Given the description of an element on the screen output the (x, y) to click on. 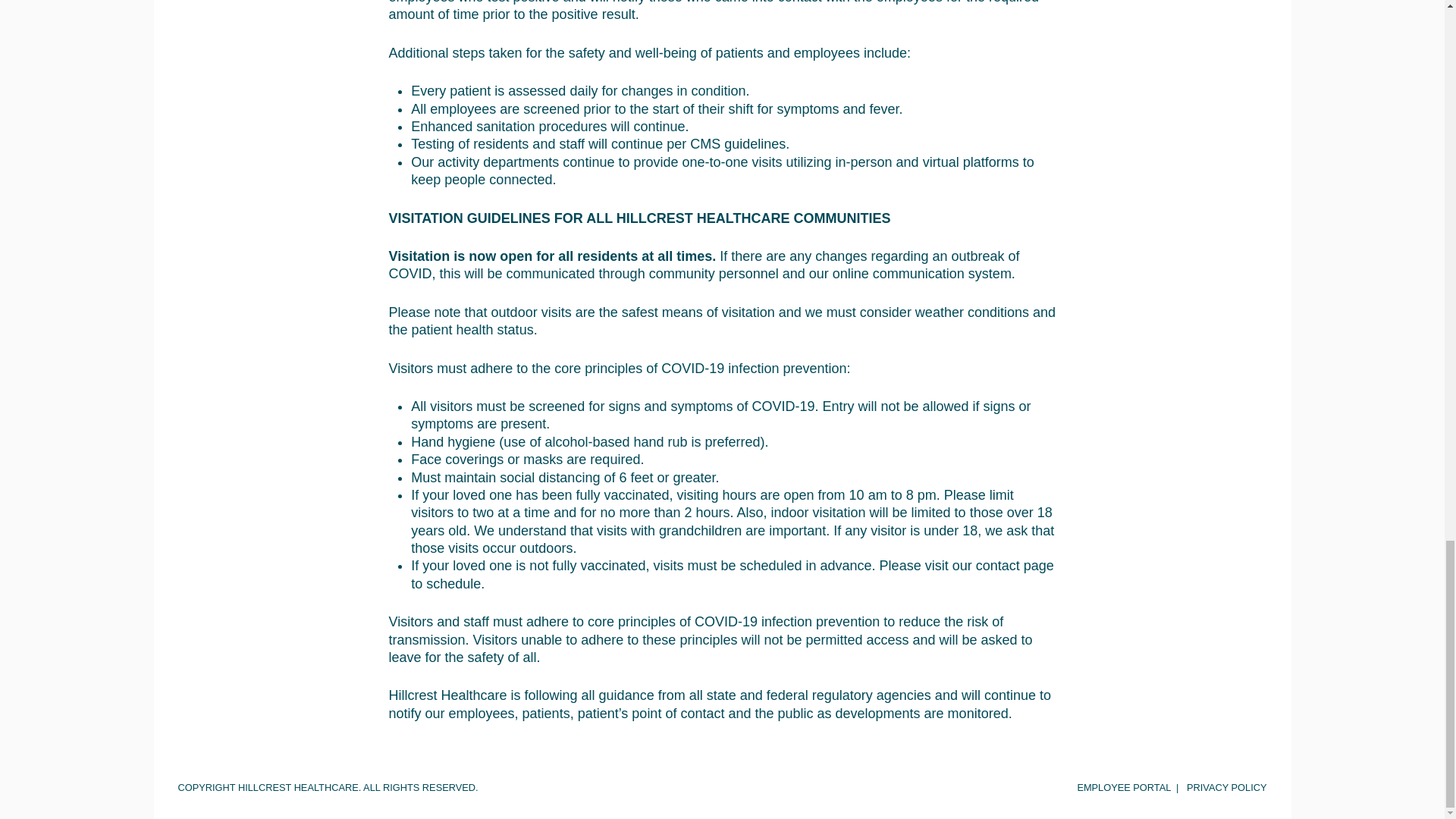
EMPLOYEE PORTAL (1123, 787)
PRIVACY POLICY (1226, 787)
